Given the description of an element on the screen output the (x, y) to click on. 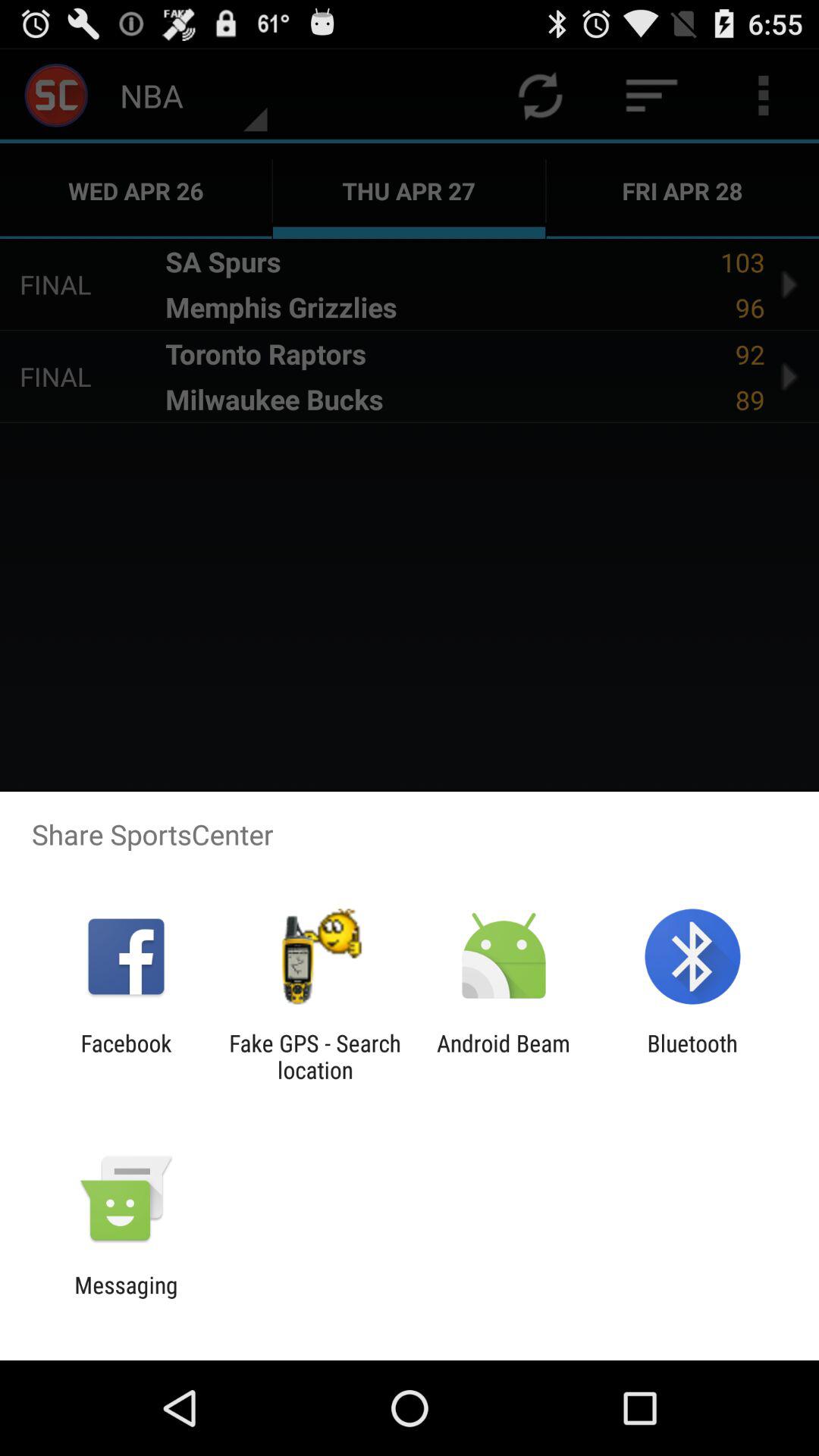
open icon to the right of android beam item (692, 1056)
